Given the description of an element on the screen output the (x, y) to click on. 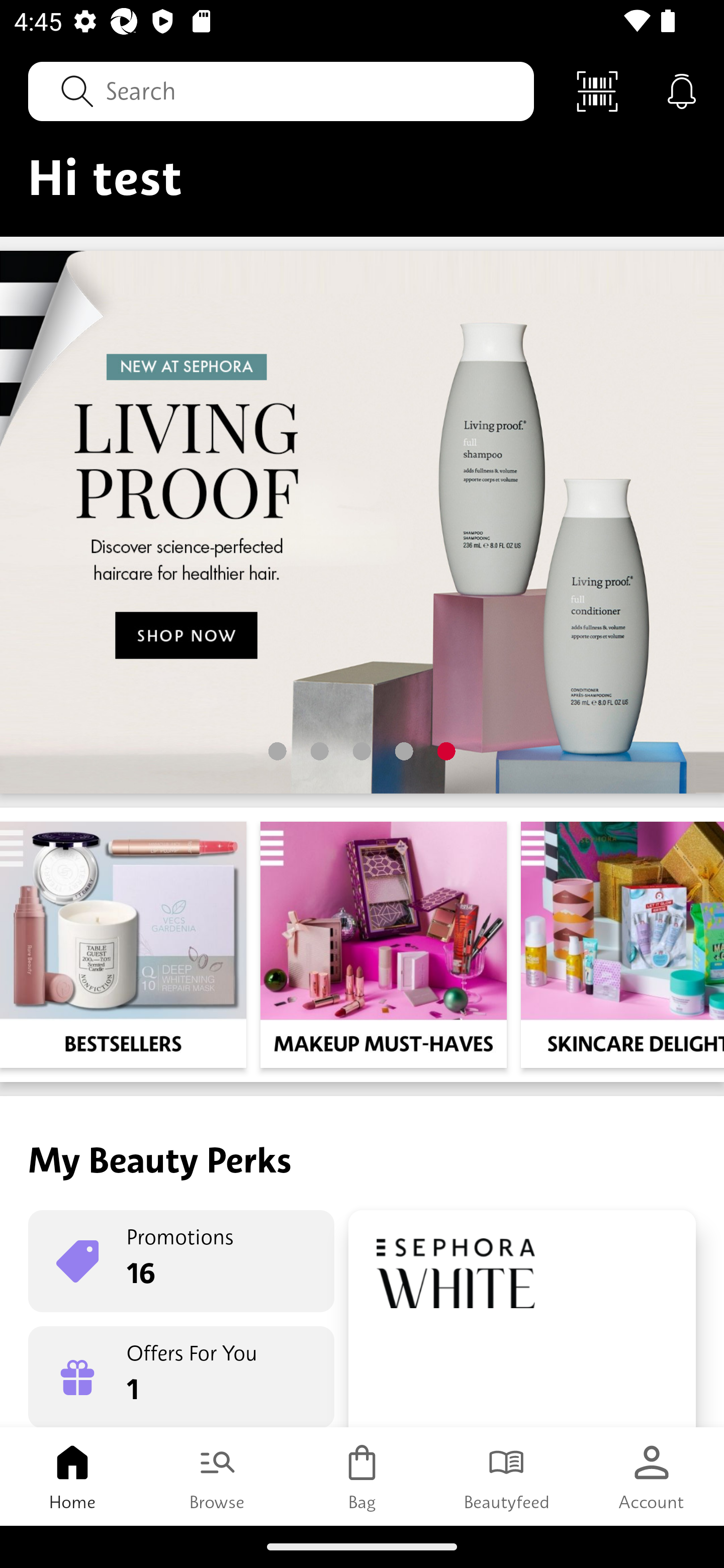
Scan Code (597, 90)
Notifications (681, 90)
Search (281, 90)
Promotions 16 (181, 1261)
Rewards Boutique 90 Pts (521, 1318)
Offers For You 1 (181, 1376)
Browse (216, 1475)
Bag (361, 1475)
Beautyfeed (506, 1475)
Account (651, 1475)
